Given the description of an element on the screen output the (x, y) to click on. 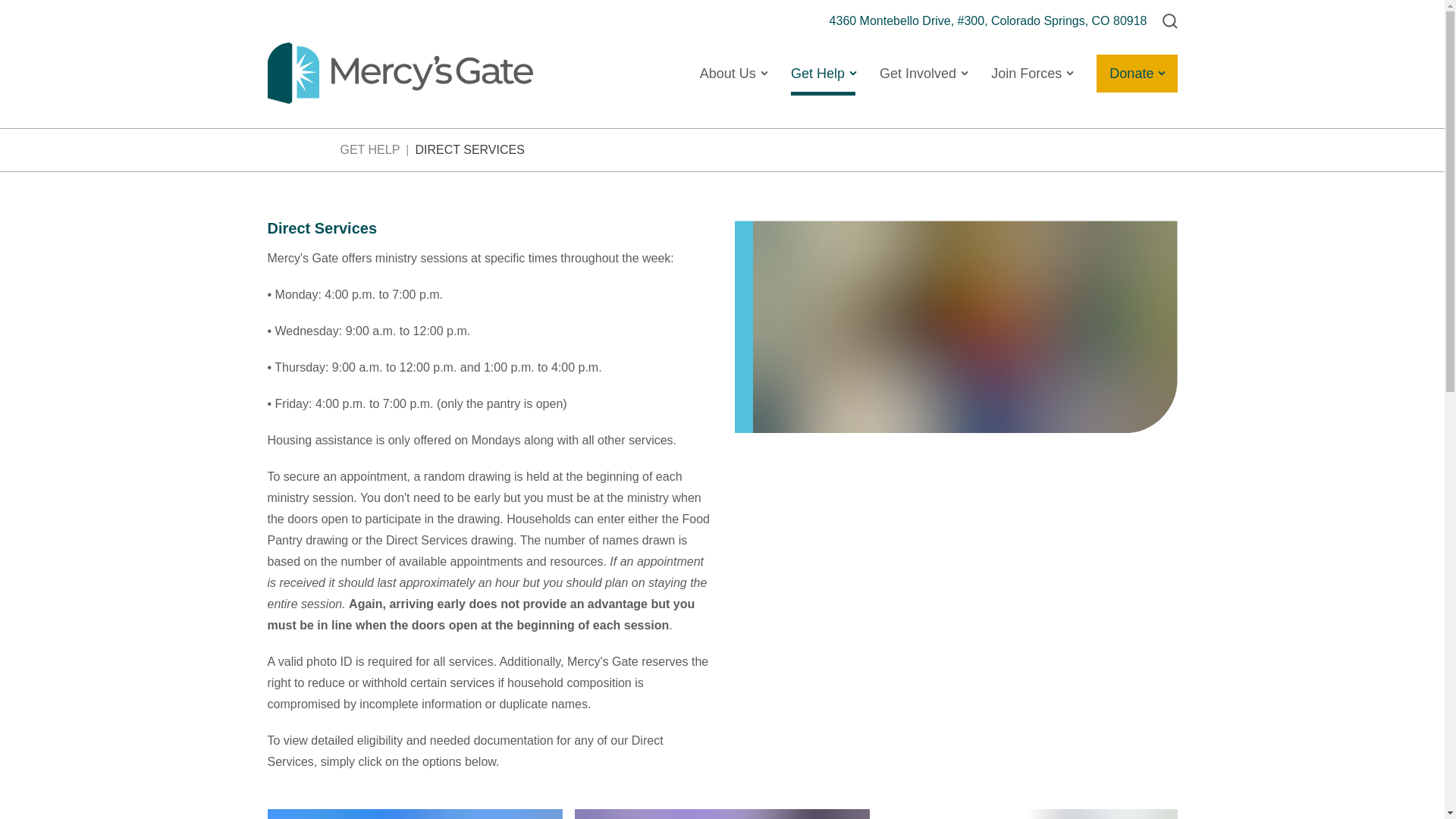
Donate (1136, 73)
Join Forces (1031, 73)
About Us (733, 73)
Get Involved (922, 73)
Get Help (823, 73)
